Given the description of an element on the screen output the (x, y) to click on. 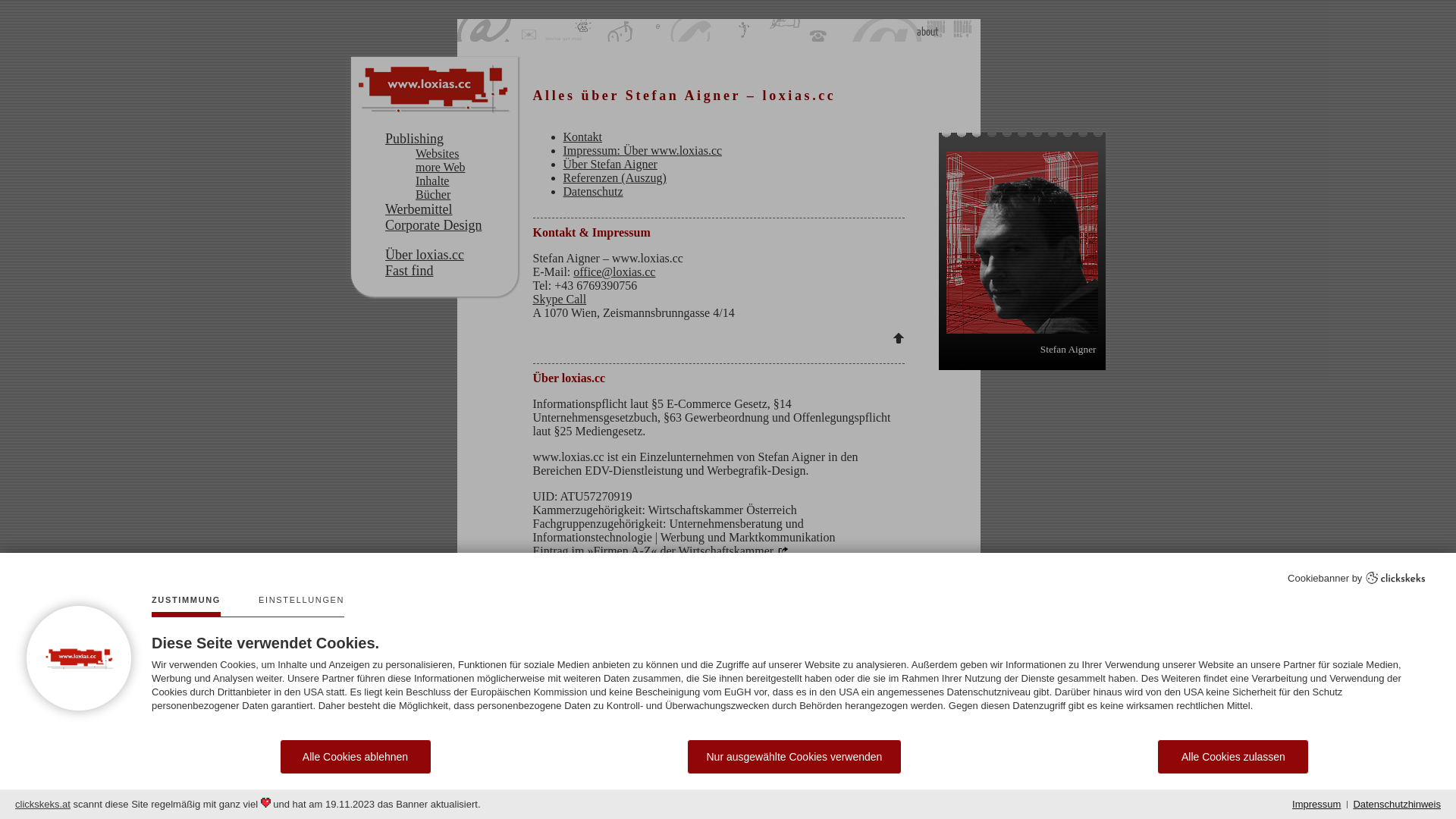
Hinauf zum Seitenanfang Element type: hover (897, 338)
Referenzen (Auszug) Element type: text (613, 177)
office@loxias.cc Element type: text (614, 271)
Datenschutz Element type: text (592, 191)
Corporate Design Element type: text (449, 225)
Websites Element type: text (464, 153)
Skype Call Element type: text (559, 298)
Clickskeks Logo Element type: text (1395, 577)
Alle Cookies zulassen Element type: text (1232, 756)
Alle Cookies ablehnen Element type: text (354, 756)
Impressum Element type: text (1316, 804)
Datenschutzhinweis Element type: text (1396, 804)
clickskeks.at Element type: text (42, 803)
Publishing Element type: text (449, 139)
Zur Startseite Element type: hover (434, 88)
more Web Element type: text (464, 167)
Inhalte Element type: text (464, 181)
Kontakt Element type: text (582, 136)
Werbemittel Element type: text (449, 209)
Fast find Element type: text (449, 271)
